Given the description of an element on the screen output the (x, y) to click on. 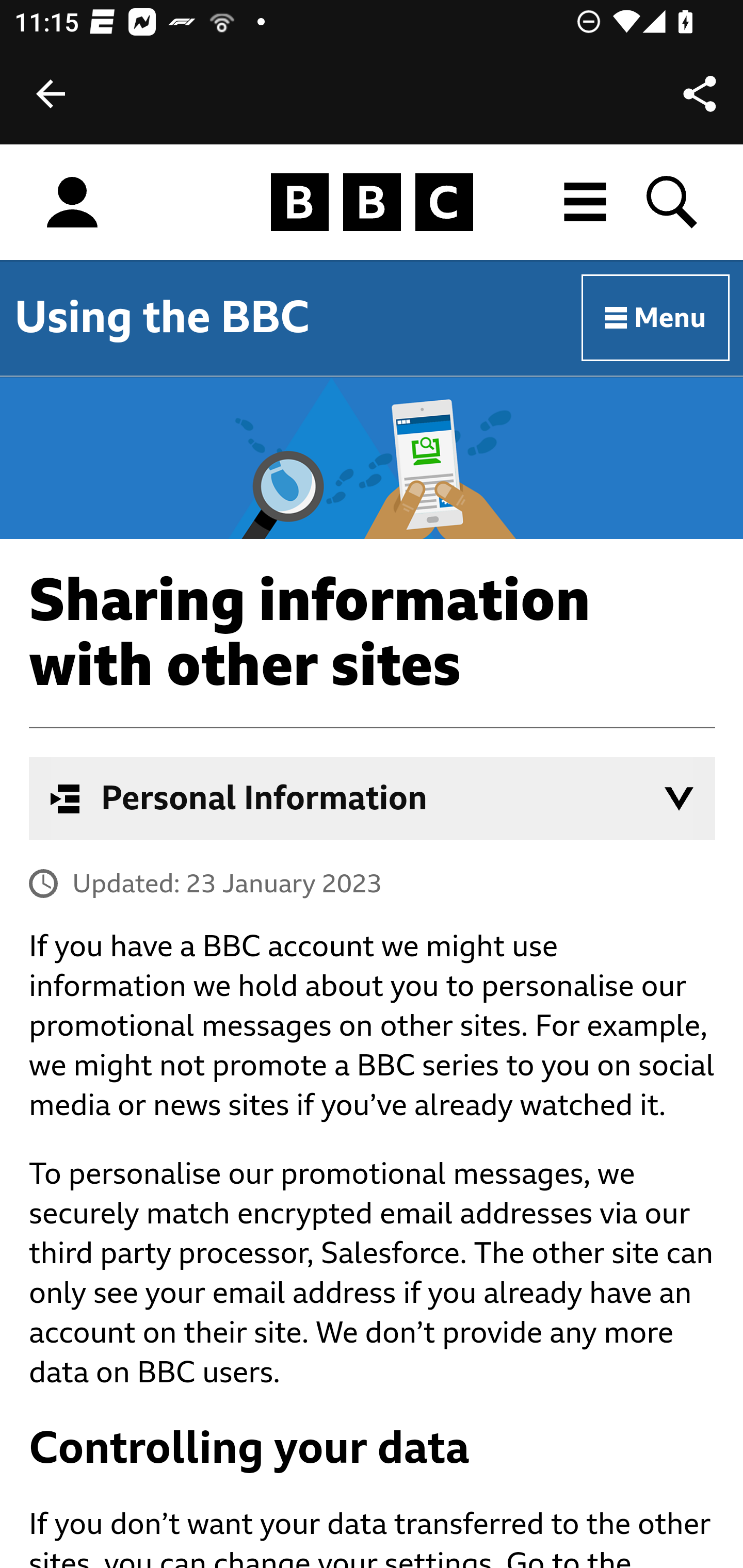
Back (50, 93)
Share (699, 93)
All BBC destinations menu (585, 202)
Search BBC (672, 202)
Sign in (71, 203)
Homepage (371, 203)
Menu (656, 318)
Using the BBC (162, 317)
Personal Information (372, 798)
